Given the description of an element on the screen output the (x, y) to click on. 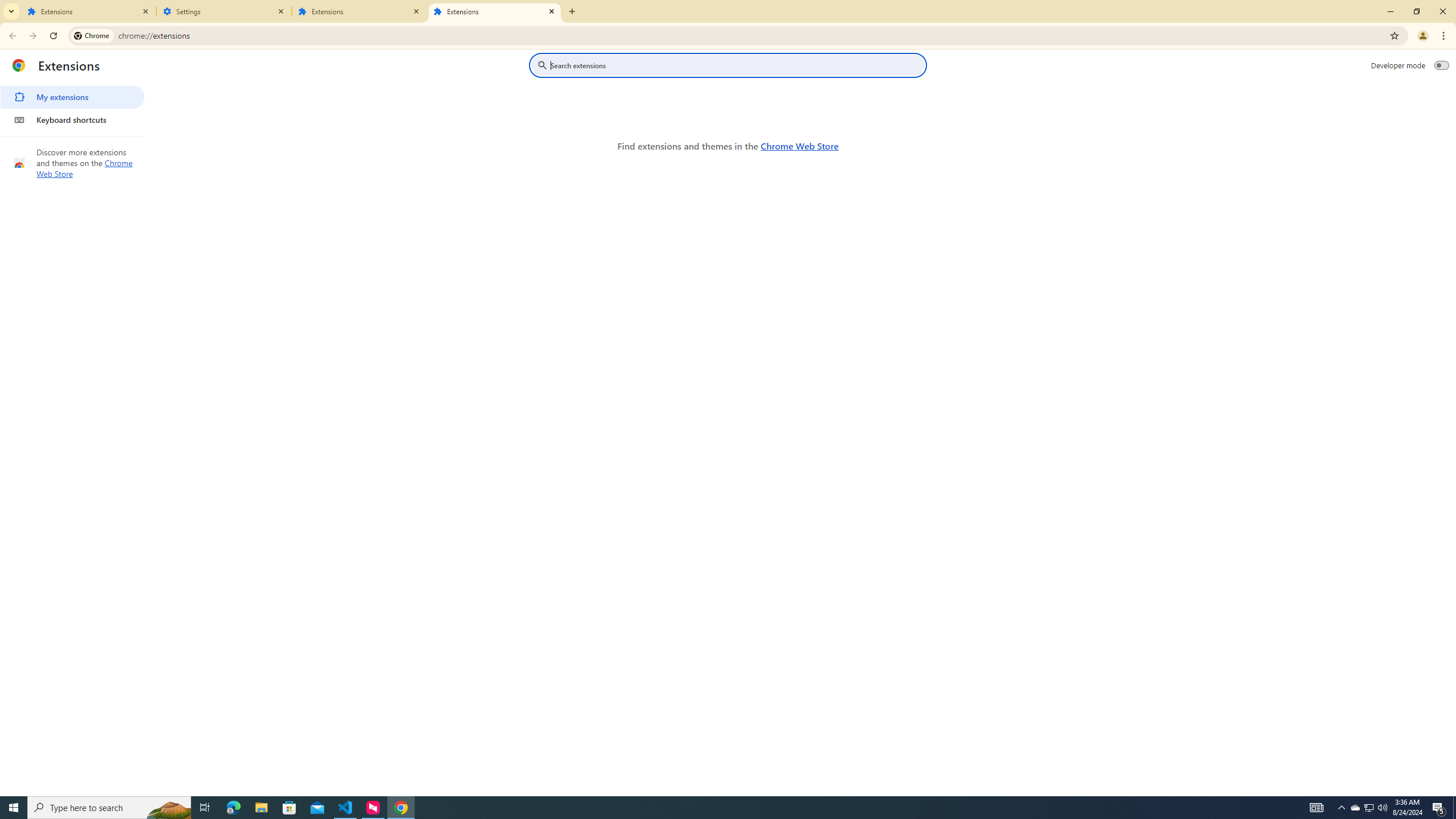
Keyboard shortcuts (72, 119)
Search extensions (735, 65)
Developer mode (1442, 64)
